Given the description of an element on the screen output the (x, y) to click on. 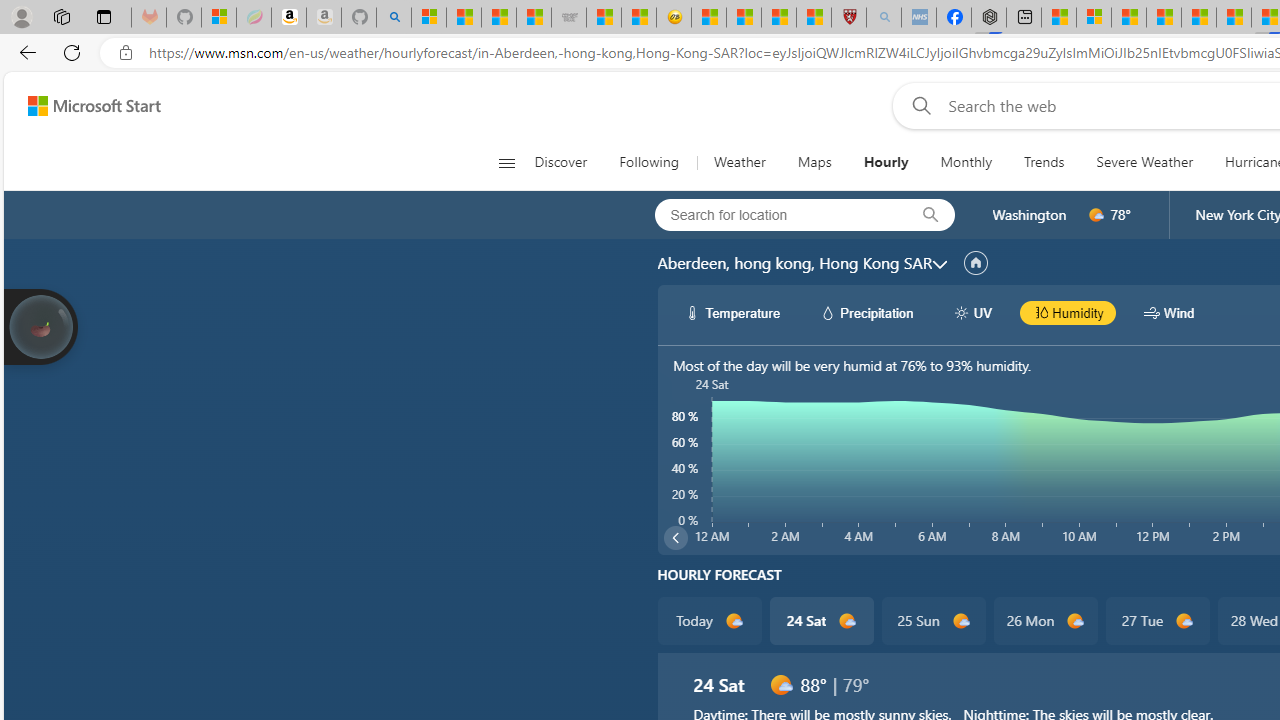
Search for location (775, 214)
hourlyChart/uvWhite (961, 312)
Severe Weather (1144, 162)
d1000 (780, 684)
Trends (1044, 162)
hourlyChart/windWhite (1152, 312)
Join us in planting real trees to help our planet! (40, 327)
hourlyChart/temperatureWhite (692, 312)
locationName/setHomeLocation (976, 263)
